Given the description of an element on the screen output the (x, y) to click on. 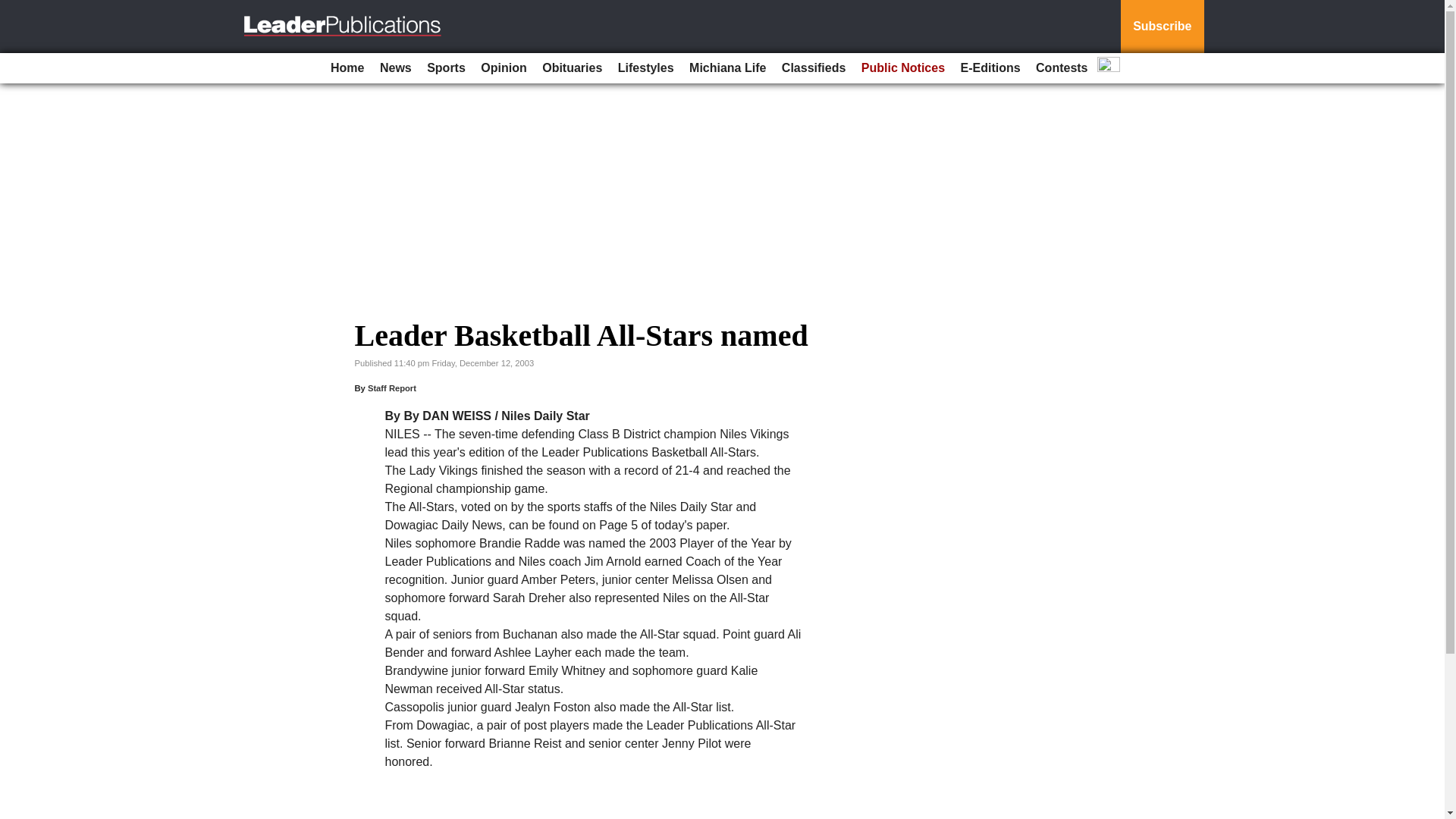
Home (346, 68)
E-Editions (989, 68)
Michiana Life (726, 68)
Public Notices (903, 68)
Obituaries (571, 68)
News (395, 68)
Staff Report (392, 388)
Contests (1061, 68)
Go (13, 9)
Classifieds (813, 68)
